Given the description of an element on the screen output the (x, y) to click on. 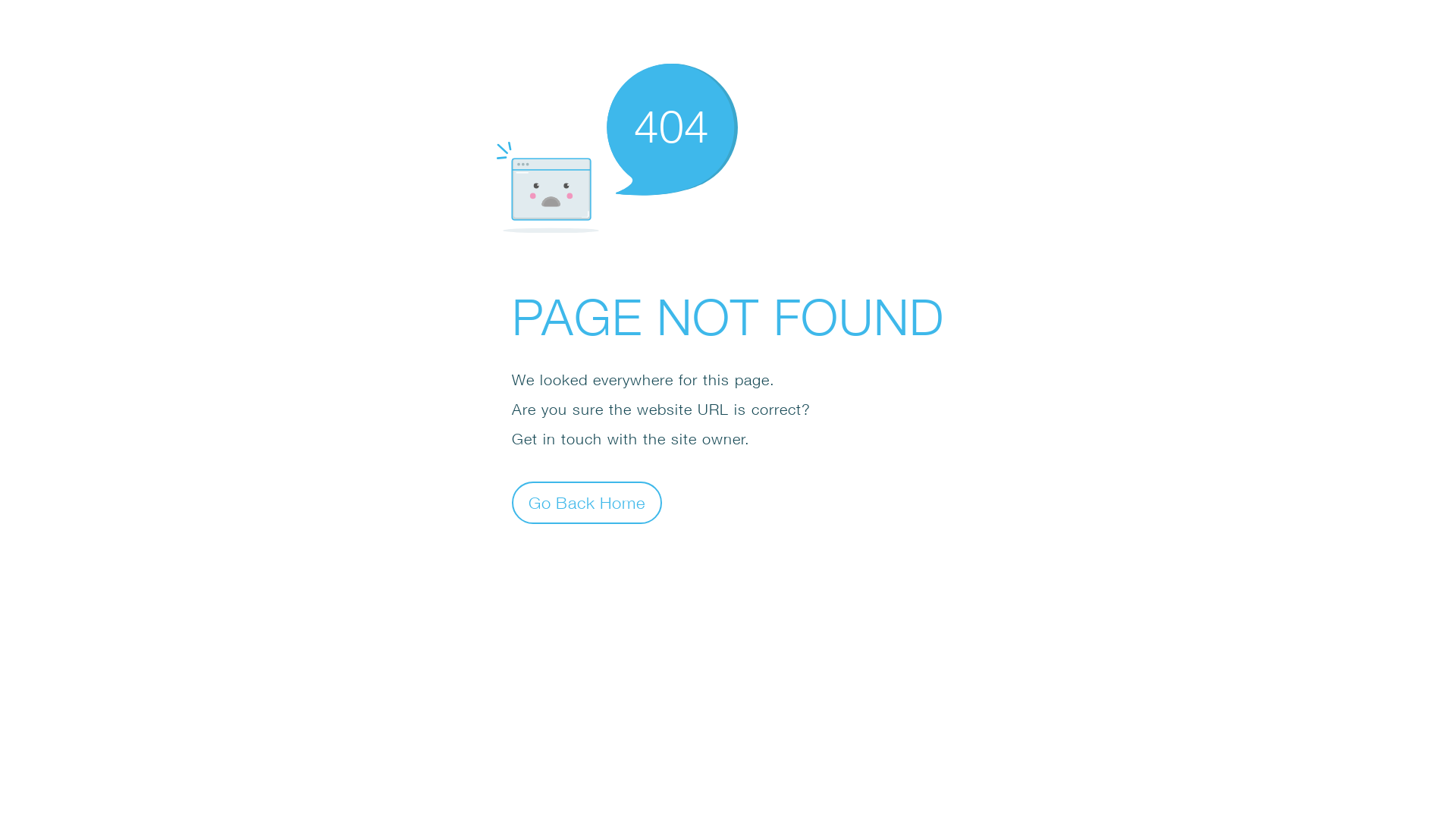
Go Back Home Element type: text (586, 502)
